Given the description of an element on the screen output the (x, y) to click on. 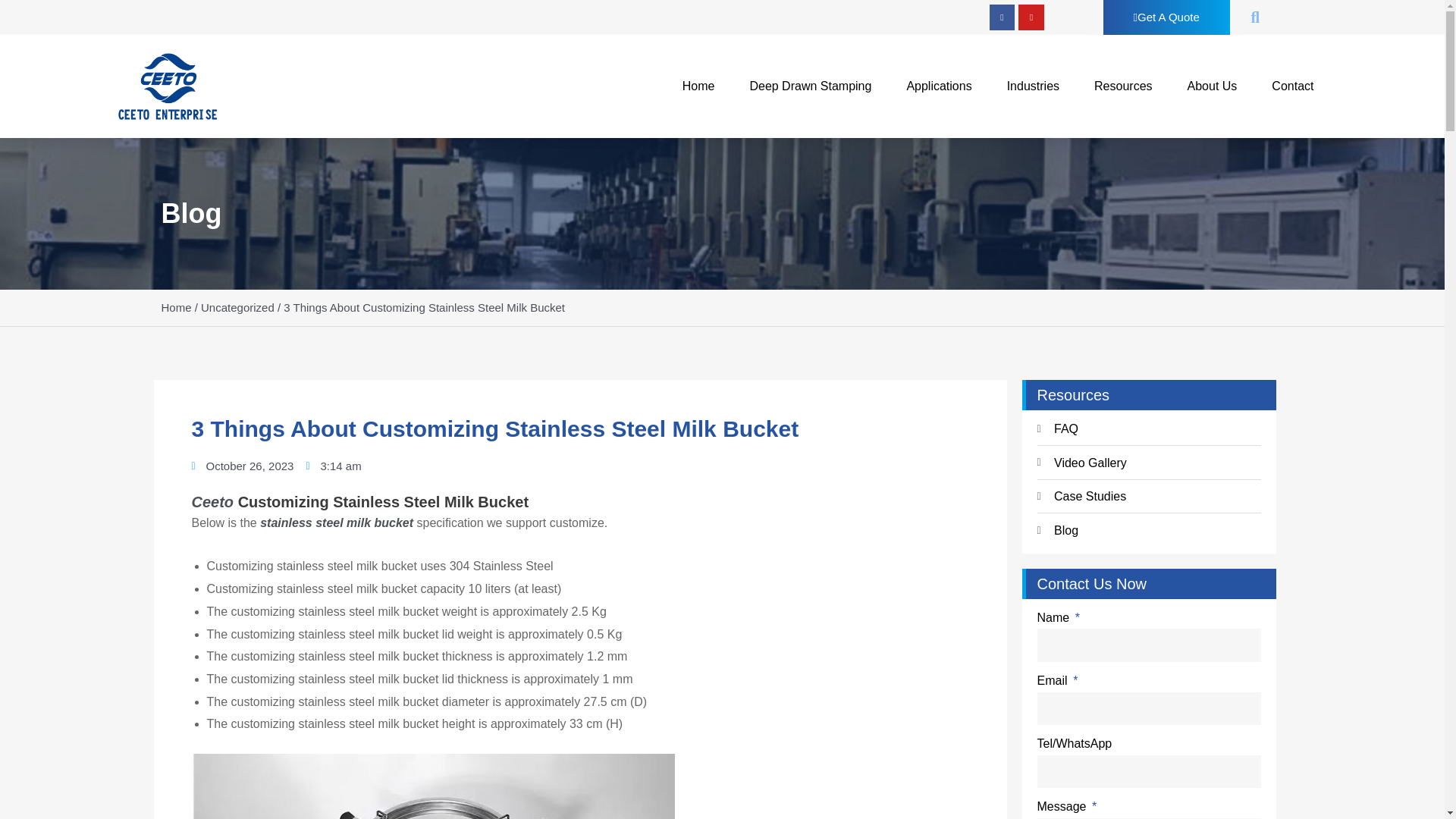
Industries (1032, 86)
About Us (1212, 86)
Get A Quote (1166, 17)
Resources (1122, 86)
Applications (939, 86)
Deep Drawn Stamping (809, 86)
Home (698, 86)
Contact (1291, 86)
